Given the description of an element on the screen output the (x, y) to click on. 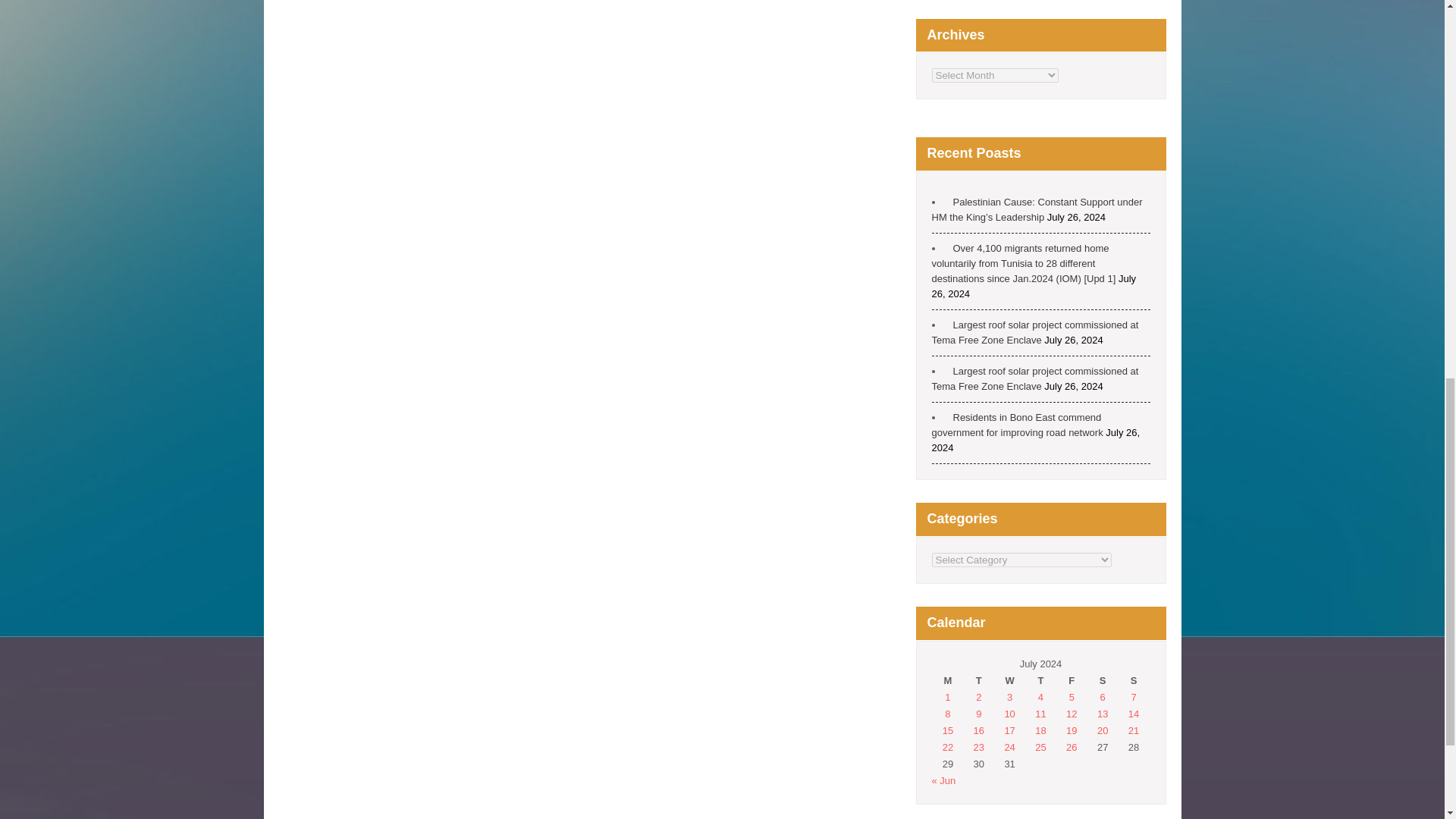
Thursday (1040, 680)
Saturday (1102, 680)
Monday (947, 680)
Tuesday (977, 680)
Sunday (1133, 680)
Friday (1071, 680)
Wednesday (1009, 680)
